Given the description of an element on the screen output the (x, y) to click on. 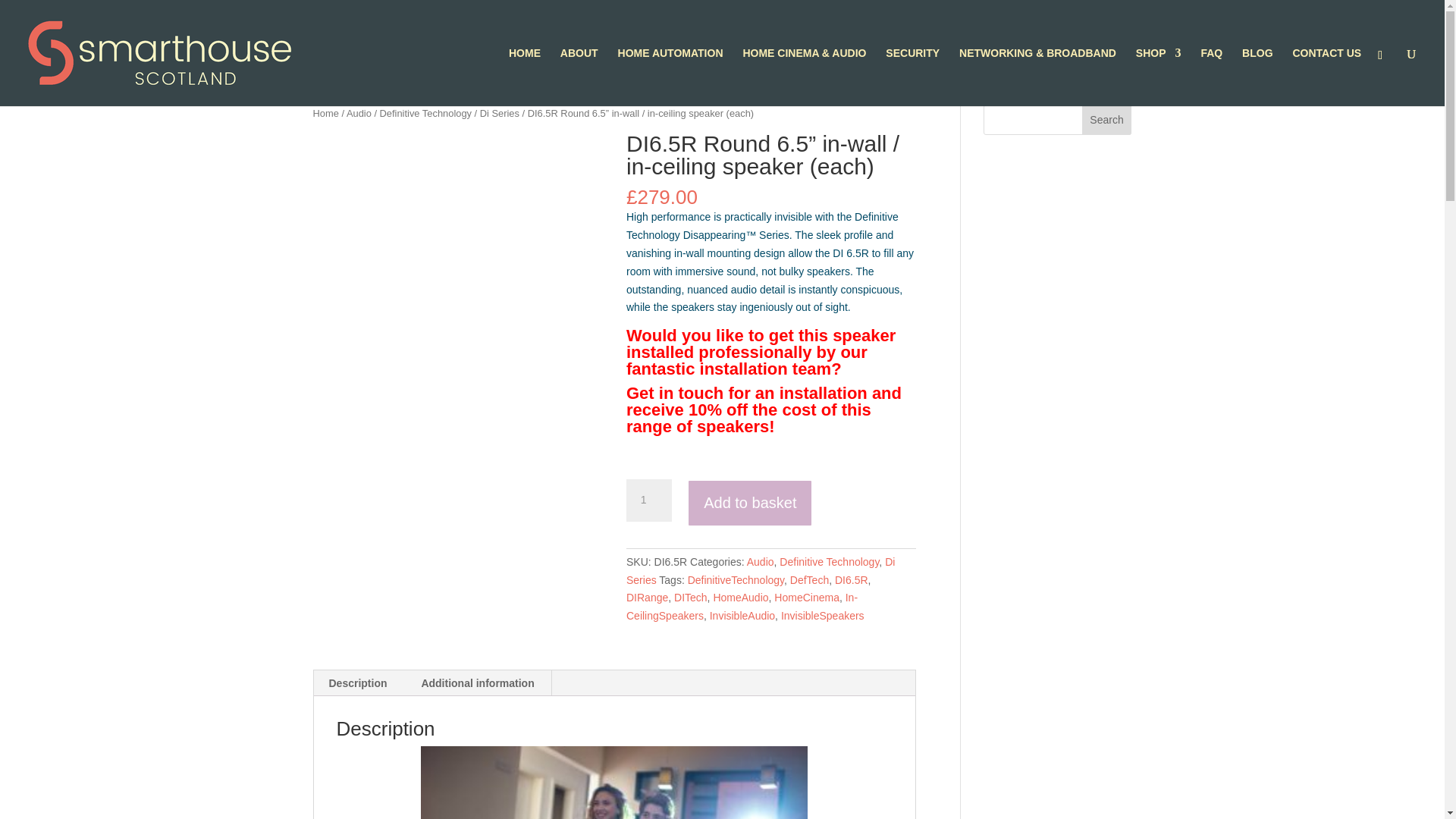
HomeCinema (807, 597)
Di Series (499, 112)
1 (648, 500)
Audio (760, 562)
Add to basket (749, 503)
DefTech (809, 580)
Di Series (760, 571)
DI6.5R (850, 580)
Home (325, 112)
DIRange (647, 597)
